Given the description of an element on the screen output the (x, y) to click on. 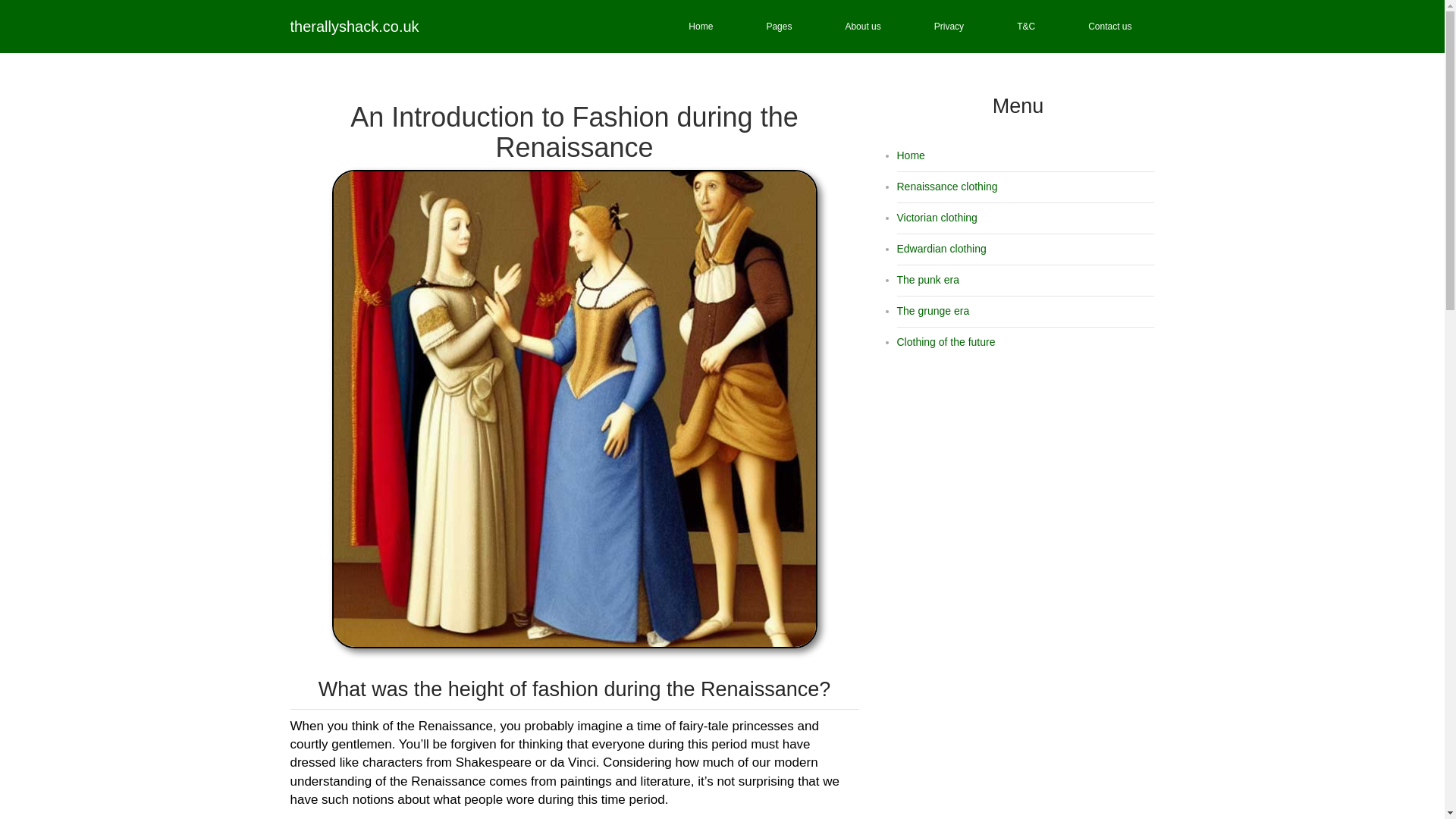
therallyshack.co.uk (354, 26)
Victorian clothing (936, 217)
Home (700, 26)
Contact us (1109, 26)
Clothing of the future (945, 341)
Home (910, 155)
The punk era (927, 279)
Pages (778, 26)
Privacy (949, 26)
Renaissance clothing (946, 186)
